Given the description of an element on the screen output the (x, y) to click on. 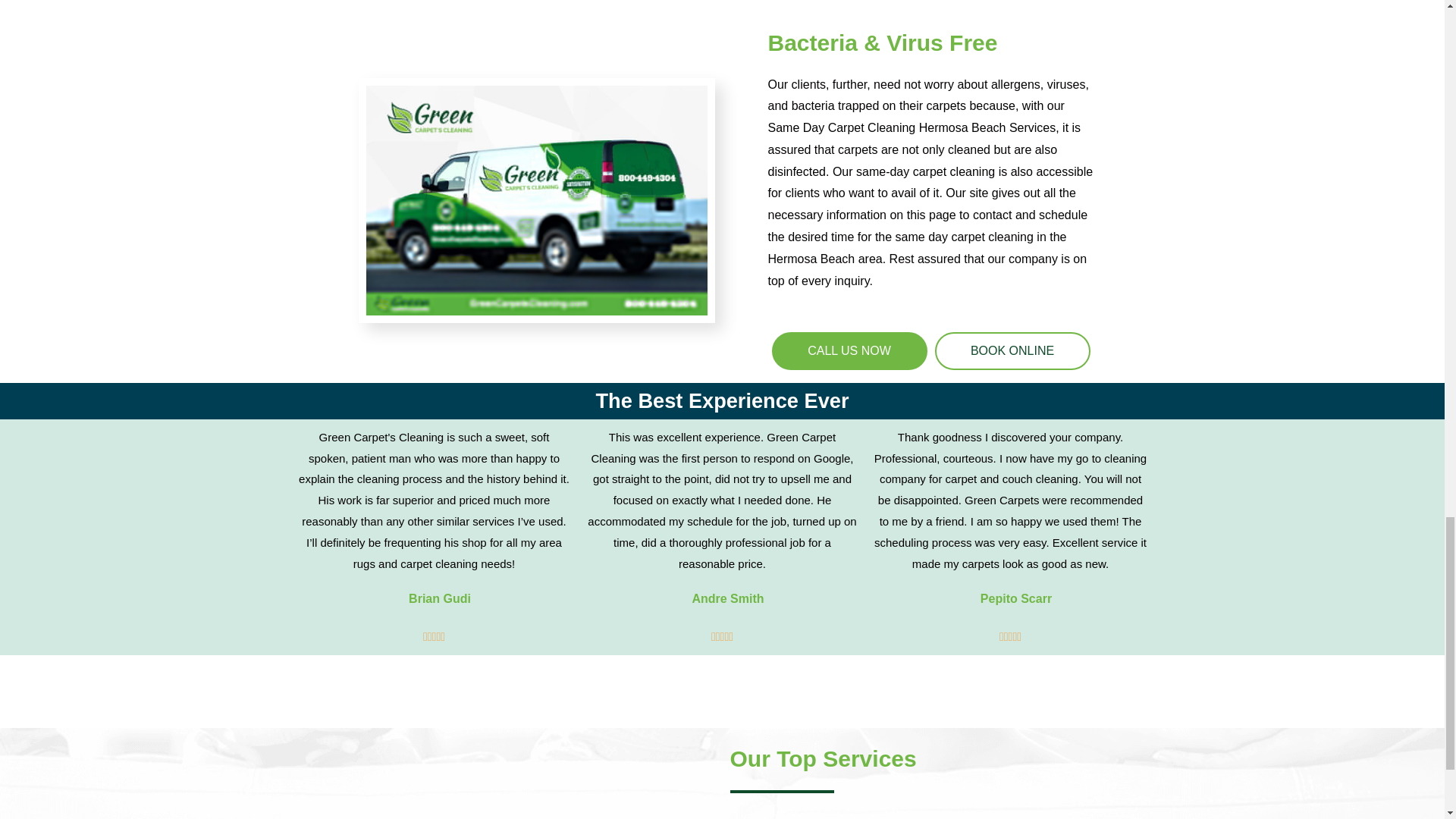
BOOK ONLINE (1011, 351)
Pepito Scarr (1015, 598)
Brian Gudi (439, 598)
CALL US NOW (849, 351)
Andre Smith (726, 598)
